Given the description of an element on the screen output the (x, y) to click on. 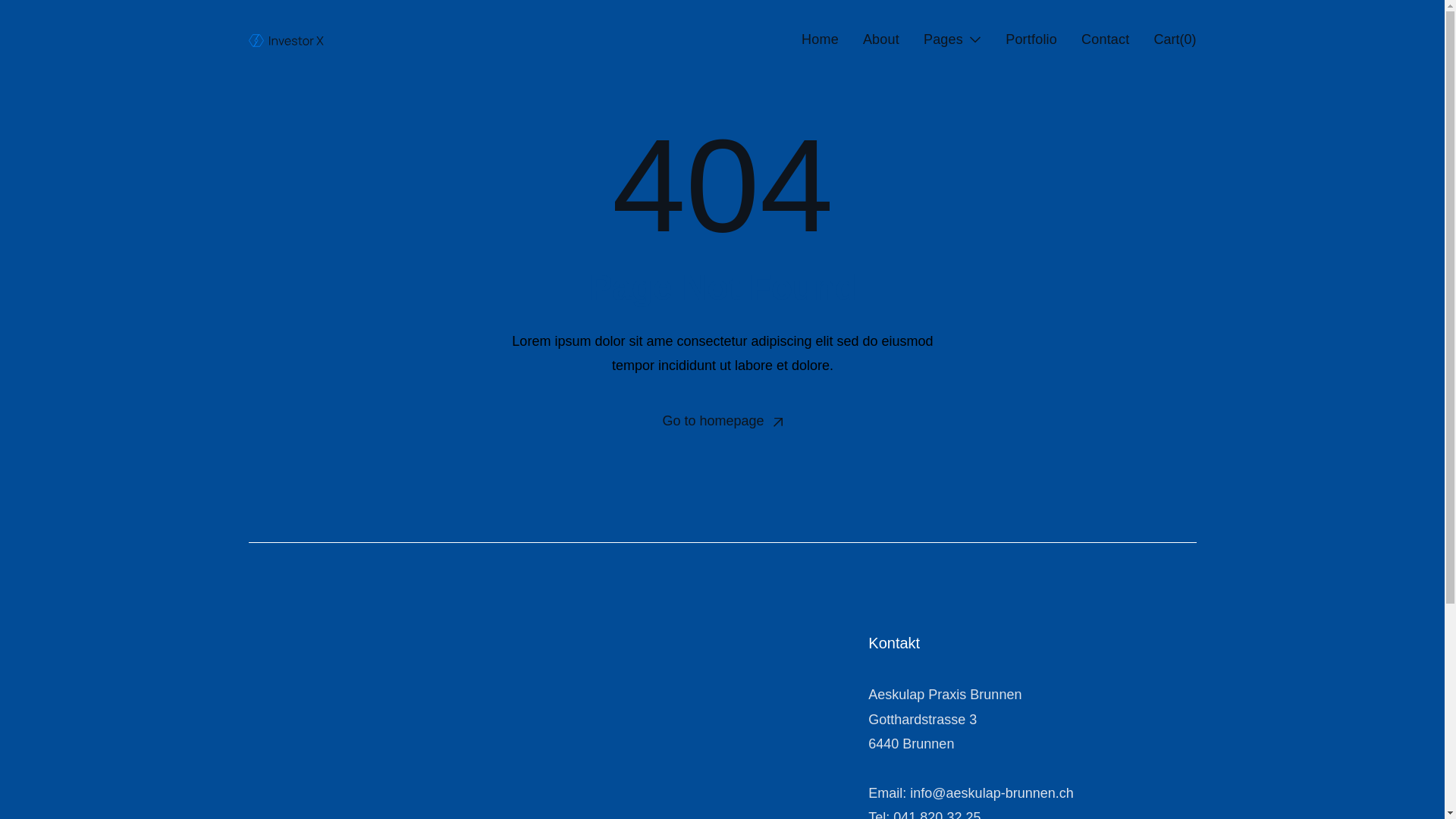
About Element type: text (880, 39)
Contact Element type: text (1105, 39)
Home Element type: text (819, 39)
Cart
(
0
) Element type: text (1174, 39)
Portfolio Element type: text (1031, 39)
